Given the description of an element on the screen output the (x, y) to click on. 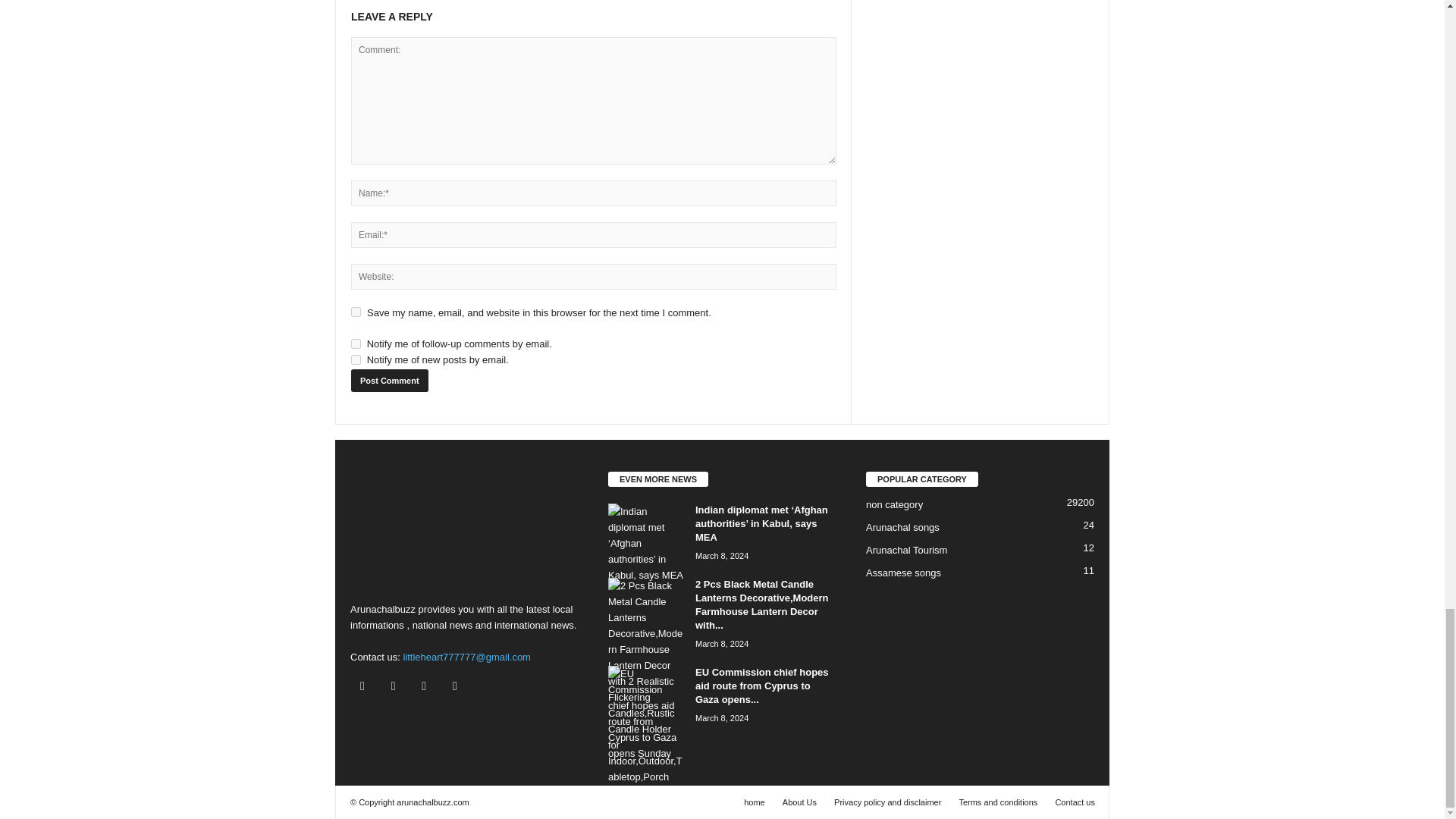
subscribe (355, 343)
yes (355, 311)
Post Comment (389, 380)
subscribe (355, 359)
